Given the description of an element on the screen output the (x, y) to click on. 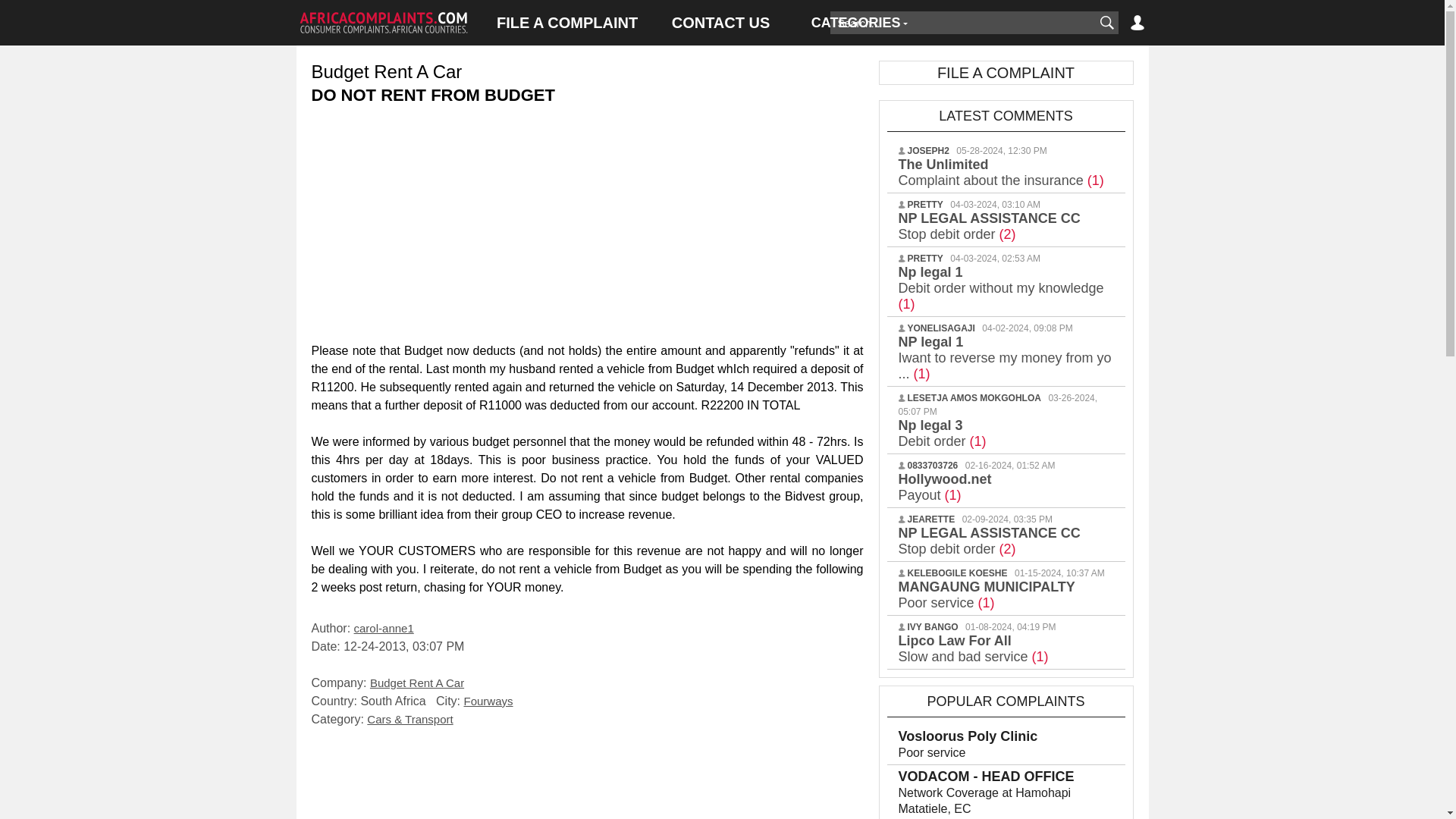
FILE A COMPLAINT (566, 22)
MANGAUNG MUNICIPALTY - Poor service (986, 594)
Lipco Law For All - Slow and bad service (973, 648)
Search... (961, 22)
Np legal 1 - Debit order without my knowledge (1000, 288)
CONTACT US (721, 22)
Advertisement (587, 777)
Search... (961, 22)
The Unlimited - Complaint about the insurance (1000, 172)
Hollywood.net - Payout (944, 486)
Np legal 3 - Debit order (941, 432)
NP LEGAL ASSISTANCE CC - Stop debit order (989, 540)
NP LEGAL ASSISTANCE CC - Stop debit order (989, 225)
